Given the description of an element on the screen output the (x, y) to click on. 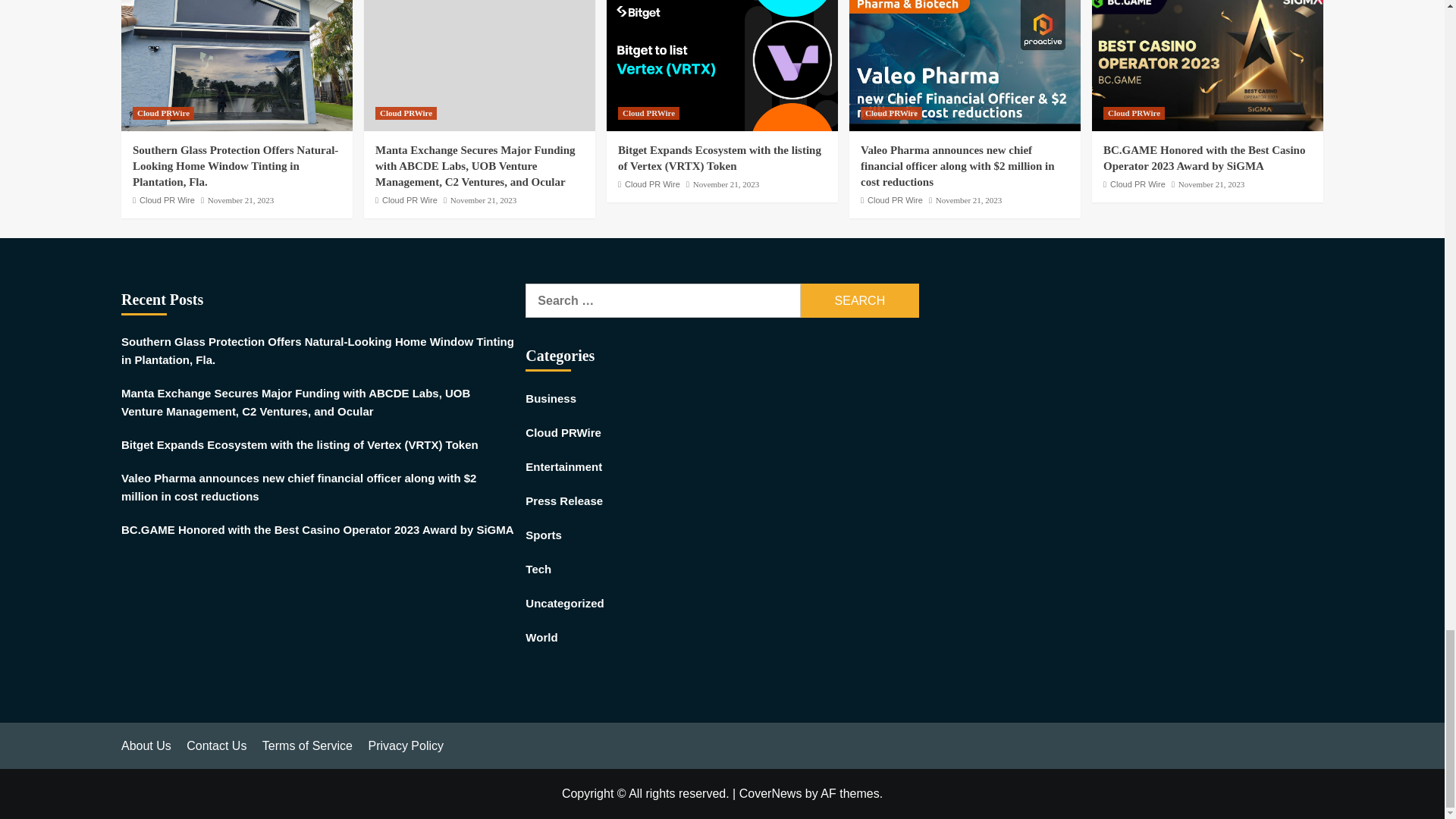
Search (859, 300)
Search (859, 300)
